Given the description of an element on the screen output the (x, y) to click on. 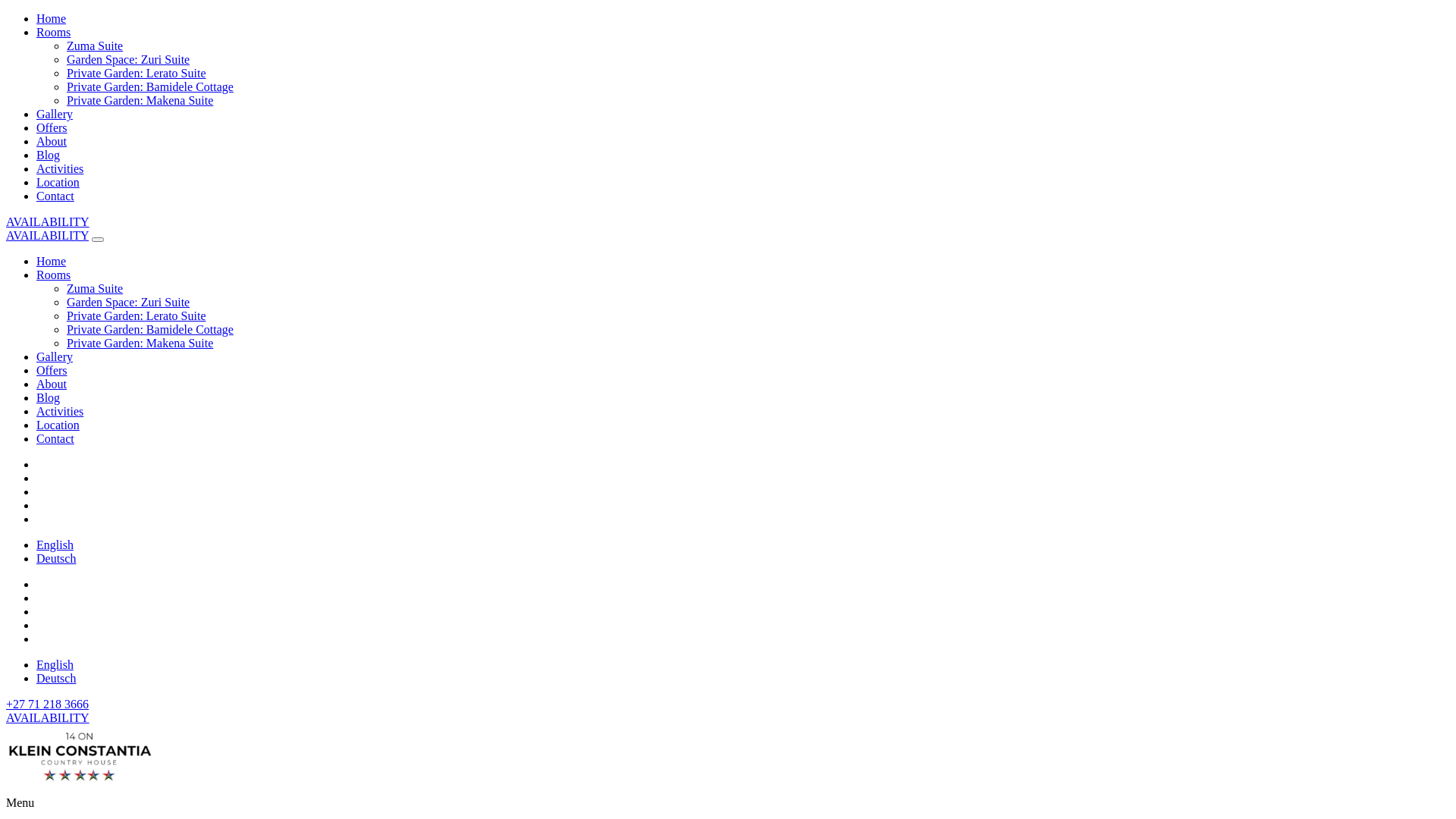
Offers Element type: text (51, 370)
AVAILABILITY Element type: text (47, 221)
Activities Element type: text (59, 168)
Blog Element type: text (47, 397)
Deutsch Element type: text (55, 558)
Rooms Element type: text (53, 274)
Private Garden: Makena Suite Element type: text (139, 100)
Offers Element type: text (51, 127)
Gallery Element type: text (54, 356)
Private Garden: Bamidele Cottage Element type: text (149, 329)
Home Element type: text (50, 260)
Private Garden: Lerato Suite Element type: text (136, 315)
Activities Element type: text (59, 410)
English Element type: text (54, 664)
About Element type: text (51, 383)
Zuma Suite Element type: text (94, 45)
Contact Element type: text (55, 438)
AVAILABILITY Element type: text (47, 717)
Contact Element type: text (55, 195)
AVAILABILITY Element type: text (47, 235)
Location Element type: text (57, 181)
Rooms Element type: text (53, 31)
Home Element type: text (50, 18)
Private Garden: Lerato Suite Element type: text (136, 72)
Location Element type: text (57, 424)
Gallery Element type: text (54, 113)
Garden Space: Zuri Suite Element type: text (127, 301)
About Element type: text (51, 140)
Private Garden: Bamidele Cottage Element type: text (149, 86)
Blog Element type: text (47, 154)
14 on Klein Constantia Element type: hover (81, 788)
+27 71 218 3666 Element type: text (47, 703)
Private Garden: Makena Suite Element type: text (139, 342)
Deutsch Element type: text (55, 677)
Menu Element type: text (20, 802)
Garden Space: Zuri Suite Element type: text (127, 59)
Zuma Suite Element type: text (94, 288)
English Element type: text (54, 544)
